Given the description of an element on the screen output the (x, y) to click on. 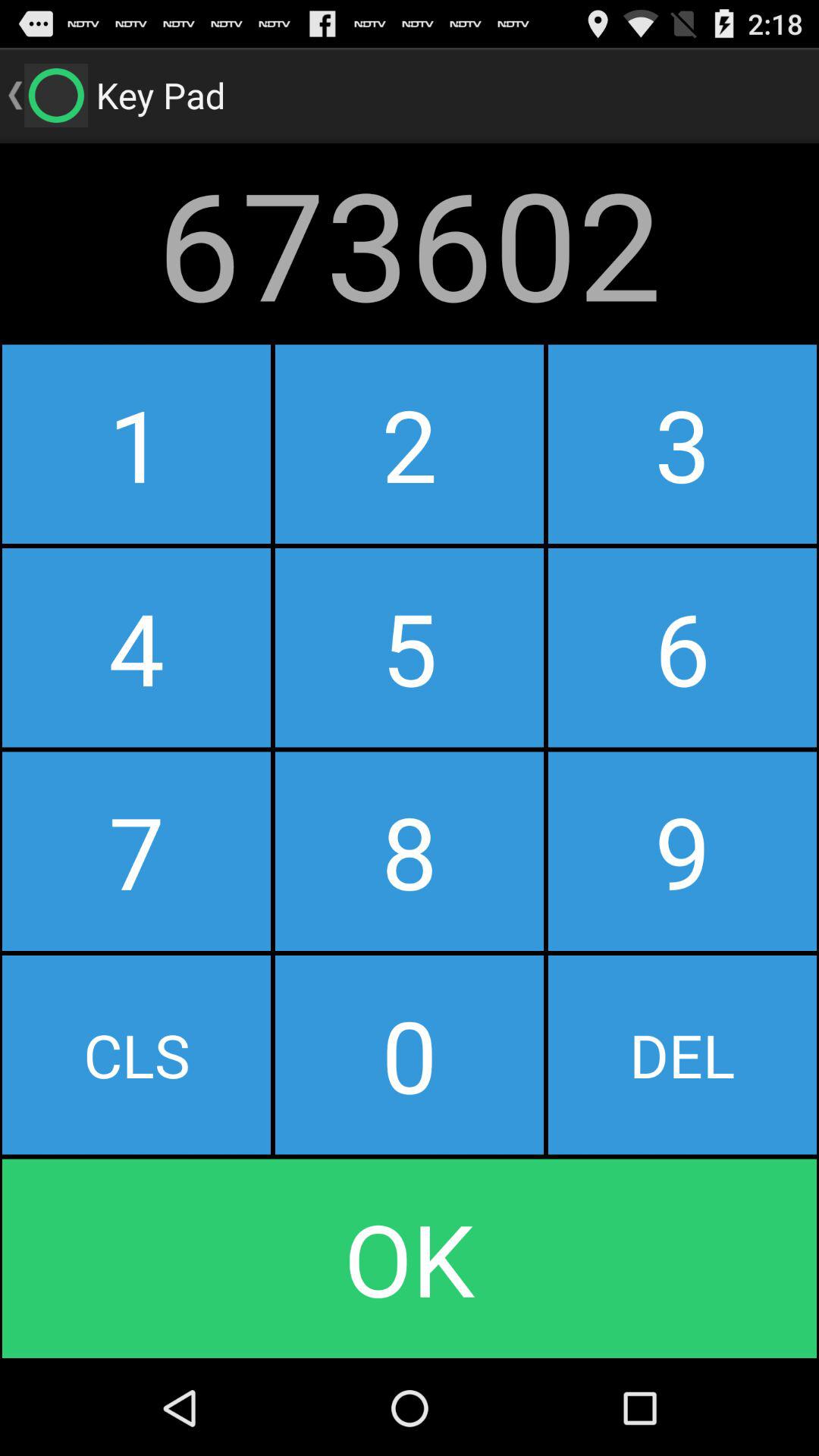
flip until 4 item (136, 647)
